Given the description of an element on the screen output the (x, y) to click on. 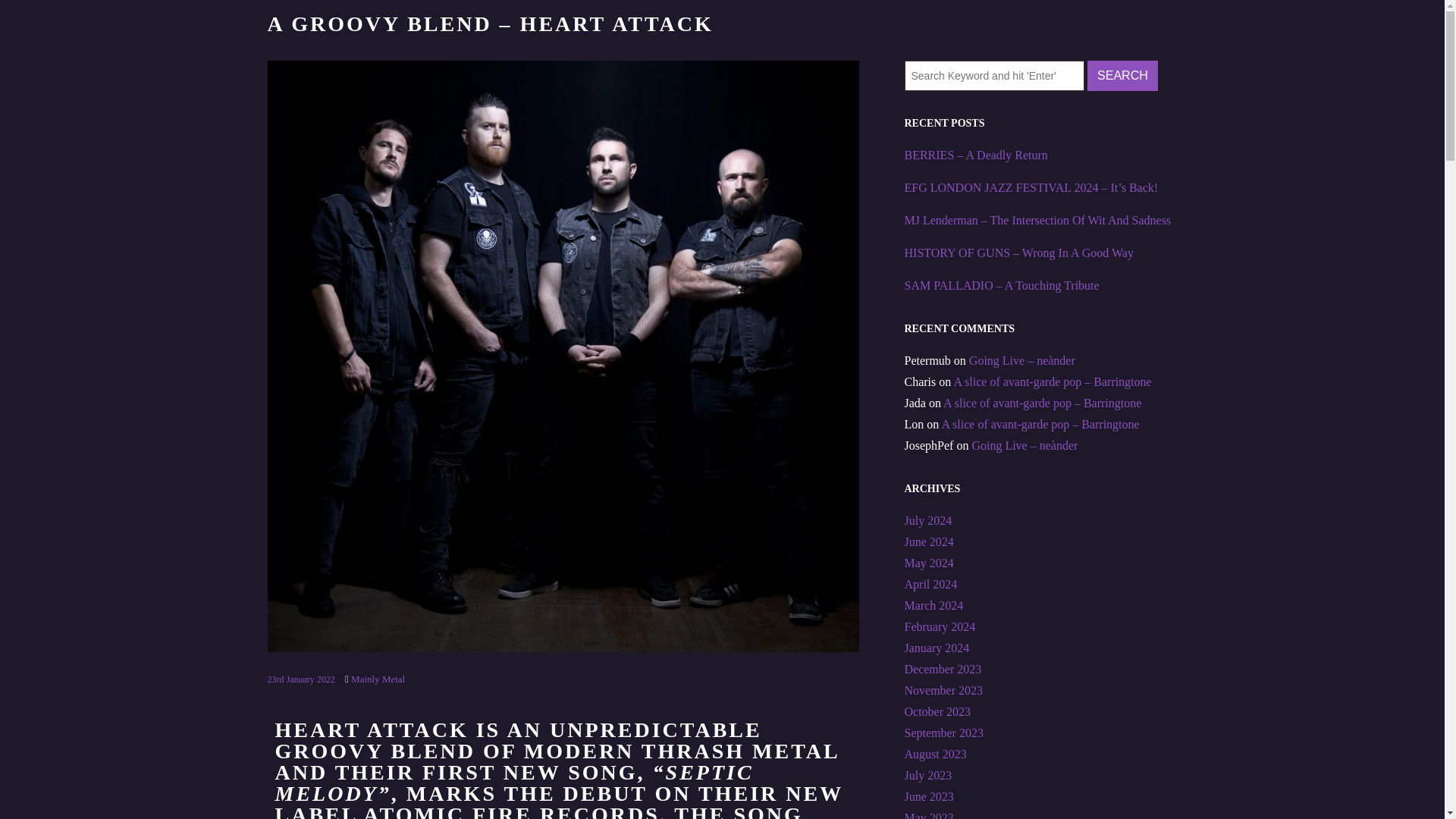
Search (1122, 75)
Search (1122, 75)
